Given the description of an element on the screen output the (x, y) to click on. 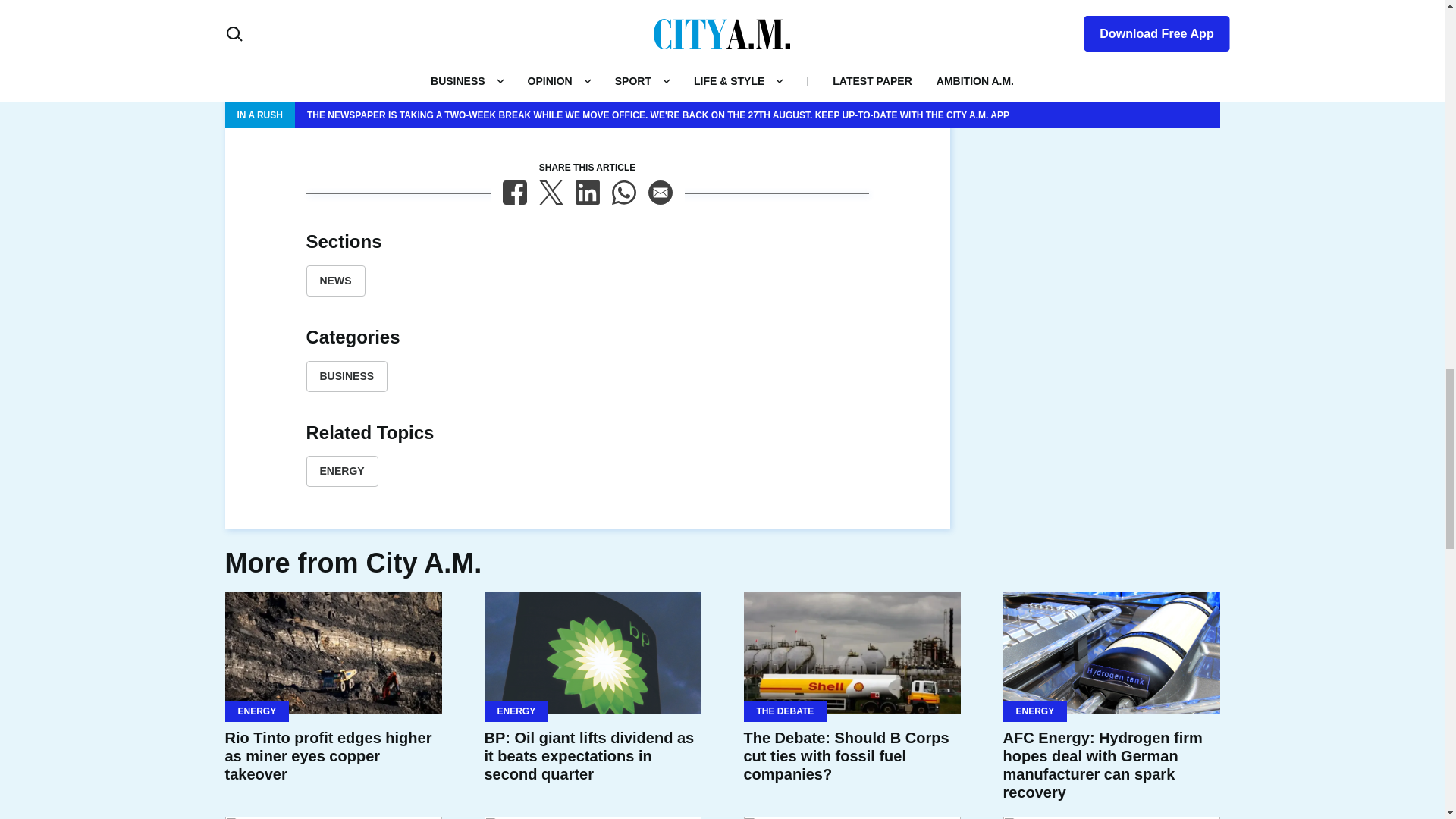
Facebook (513, 192)
Email (659, 192)
X (550, 192)
WhatsApp (622, 192)
LinkedIn (586, 192)
